Given the description of an element on the screen output the (x, y) to click on. 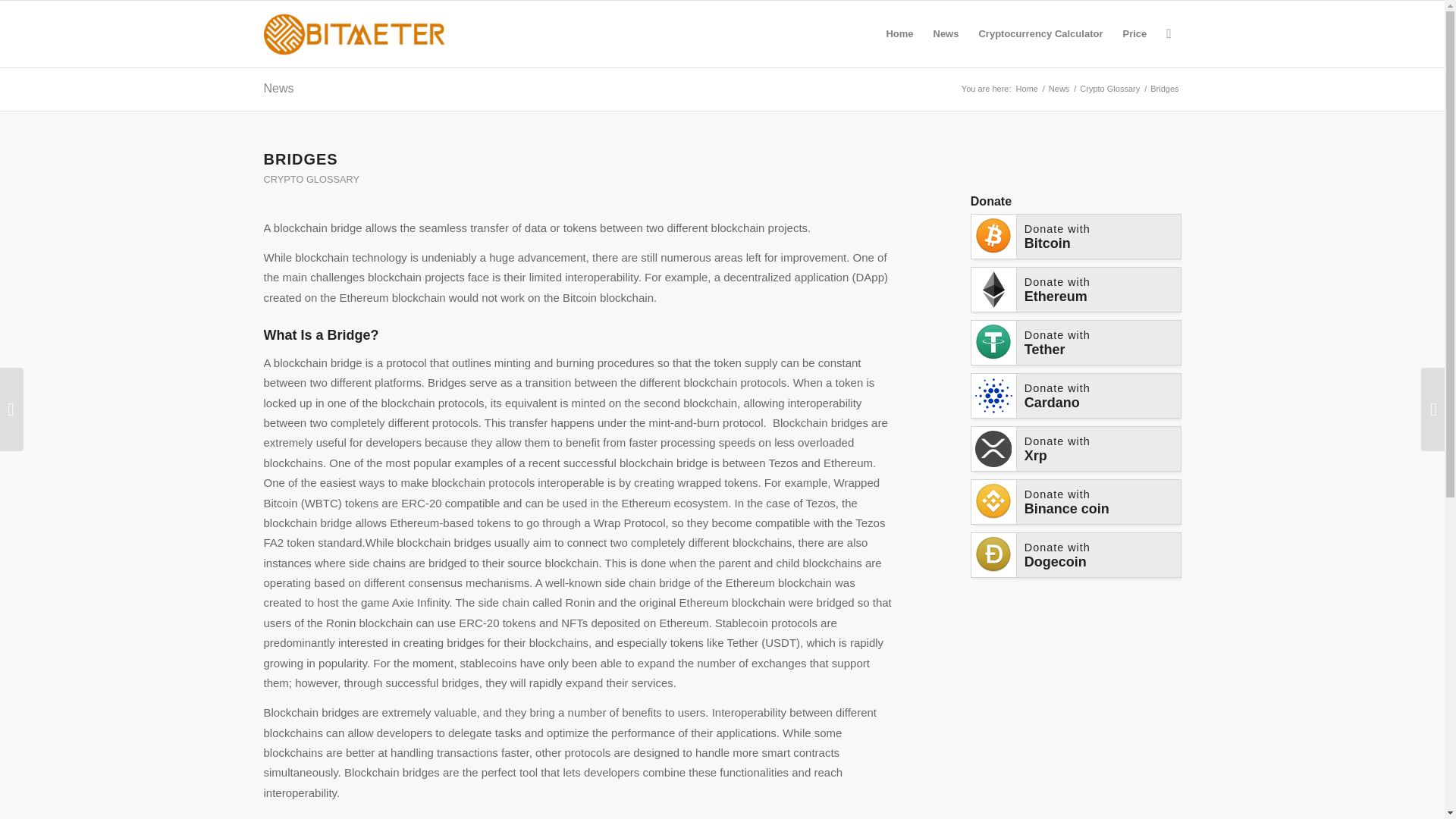
Permanent Link: News (278, 88)
Home (1026, 89)
Crypto Glossary (1109, 89)
BitMeter.net (1026, 89)
News (1058, 89)
Cryptocurrency Calculator (1040, 33)
News (1058, 89)
CRYPTO GLOSSARY (311, 179)
News (278, 88)
